Given the description of an element on the screen output the (x, y) to click on. 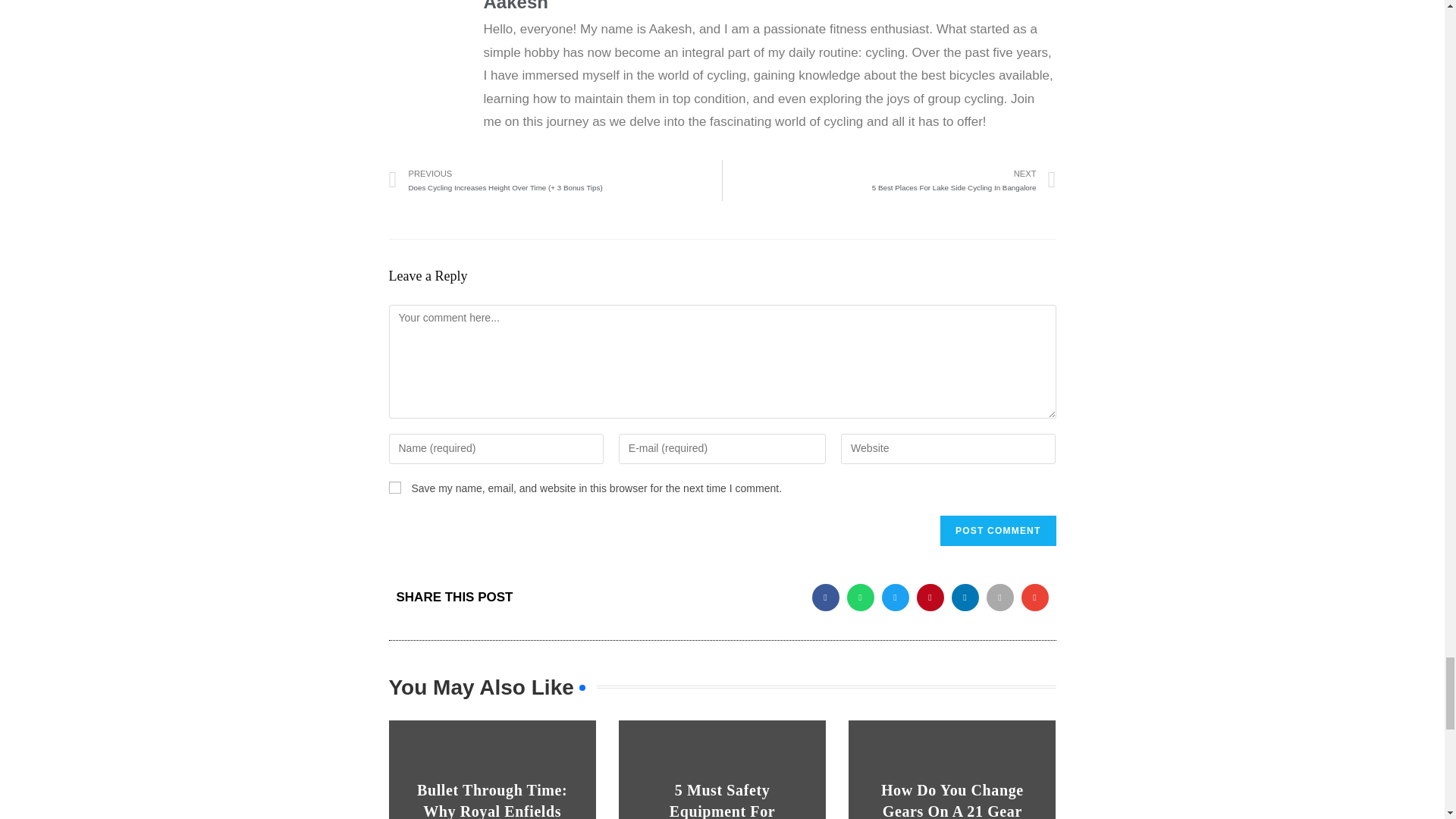
Post Comment (889, 179)
Aakesh (997, 530)
yes (770, 7)
Post Comment (394, 487)
